Given the description of an element on the screen output the (x, y) to click on. 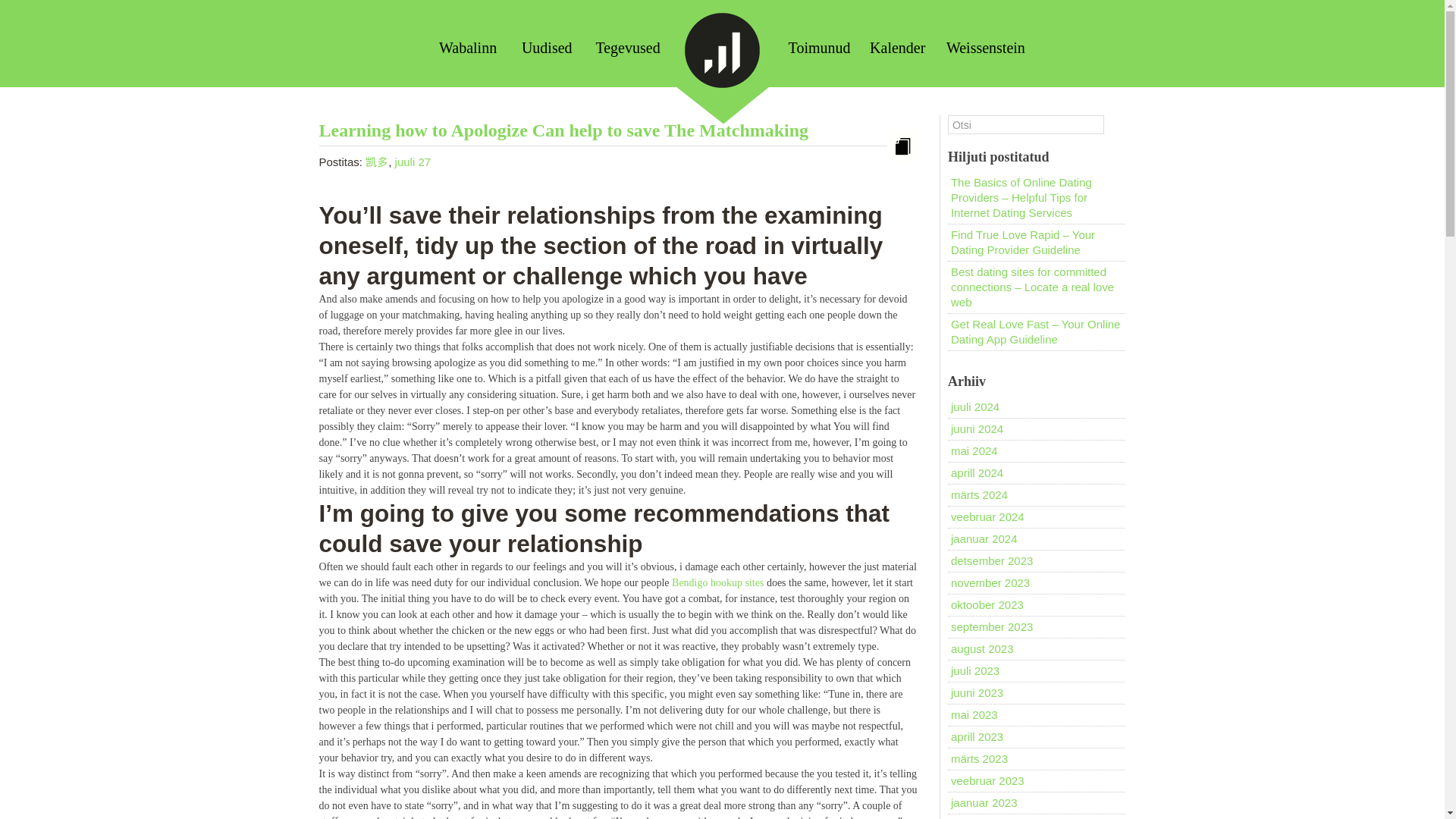
juuni 2024 (976, 428)
Weissenstein (985, 47)
veebruar 2023 (987, 780)
detsember 2023 (991, 560)
Uudised (546, 47)
jaanuar 2024 (983, 538)
Uudised (546, 47)
mai 2024 (973, 450)
november 2023 (989, 582)
Wabalinn (467, 47)
aprill 2023 (976, 736)
august 2023 (981, 648)
Wabalinn (467, 47)
jaanuar 2023 (983, 802)
juuli 2023 (974, 670)
